Given the description of an element on the screen output the (x, y) to click on. 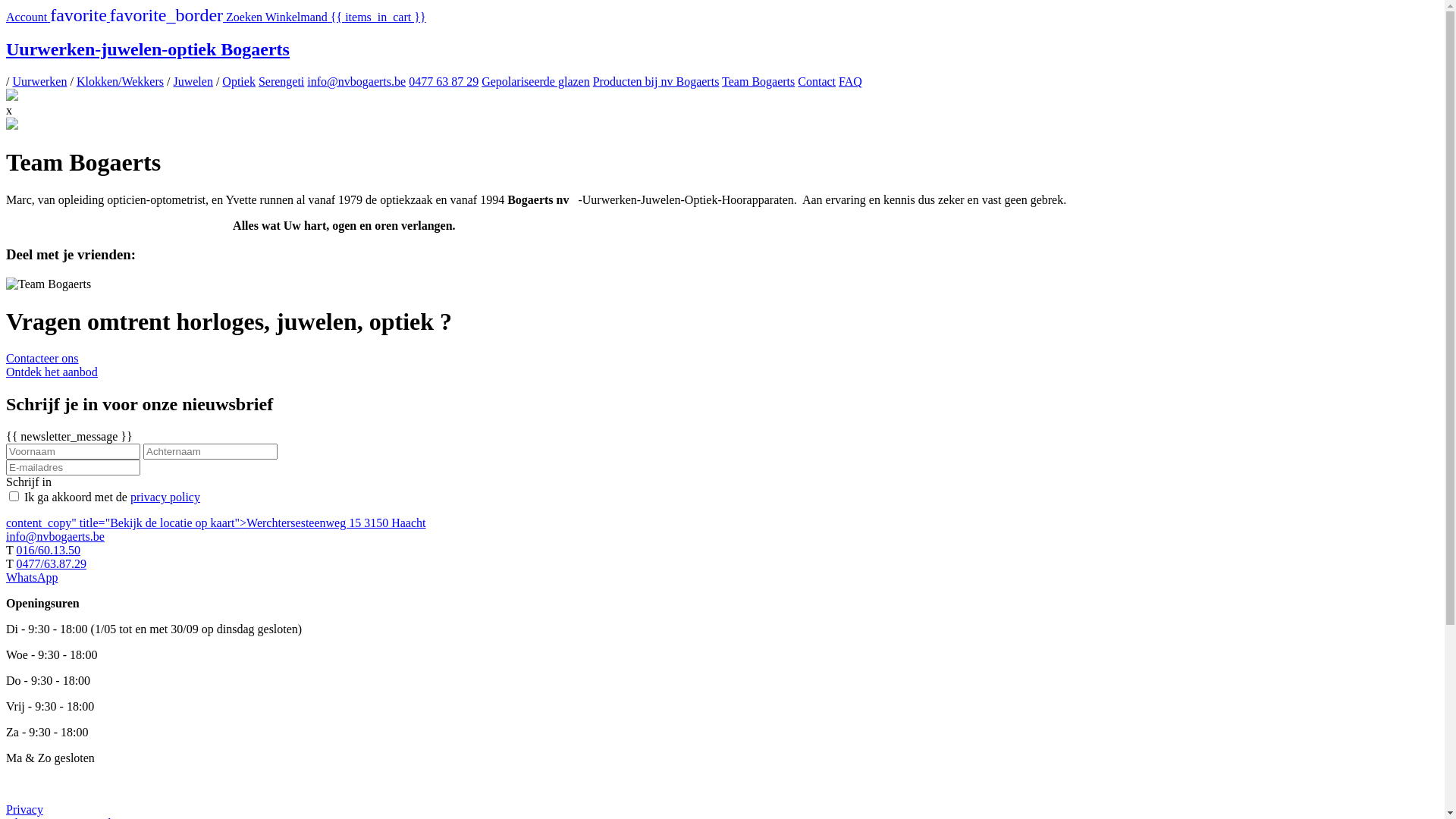
Ontdek het aanbod Element type: text (722, 372)
0477 63 87 29 Element type: text (443, 81)
0477/63.87.29 Element type: text (50, 563)
Team Bogaerts Element type: text (757, 81)
Producten bij nv Bogaerts Element type: text (656, 81)
Uurwerken-juwelen-optiek Bogaerts Element type: text (722, 49)
info@nvbogaerts.be Element type: text (55, 536)
FAQ Element type: text (850, 81)
016/60.13.50 Element type: text (47, 549)
Klokken/Wekkers Element type: text (119, 81)
Contact Element type: text (816, 81)
privacy policy Element type: text (165, 496)
Uurwerken Element type: text (39, 81)
Contacteer ons Element type: text (722, 364)
Gepolariseerde glazen Element type: text (535, 81)
info@nvbogaerts.be Element type: text (356, 81)
Uurwerken-juwelen-optiek Bogaerts Facebook Element type: hover (12, 96)
Serengeti Element type: text (281, 81)
Optiek Element type: text (238, 81)
Privacy Element type: text (24, 809)
Zoeken Element type: text (245, 16)
Account Element type: text (28, 16)
favorite favorite_border Element type: text (137, 16)
Juwelen Element type: text (192, 81)
WhatsApp Element type: text (31, 577)
